Given the description of an element on the screen output the (x, y) to click on. 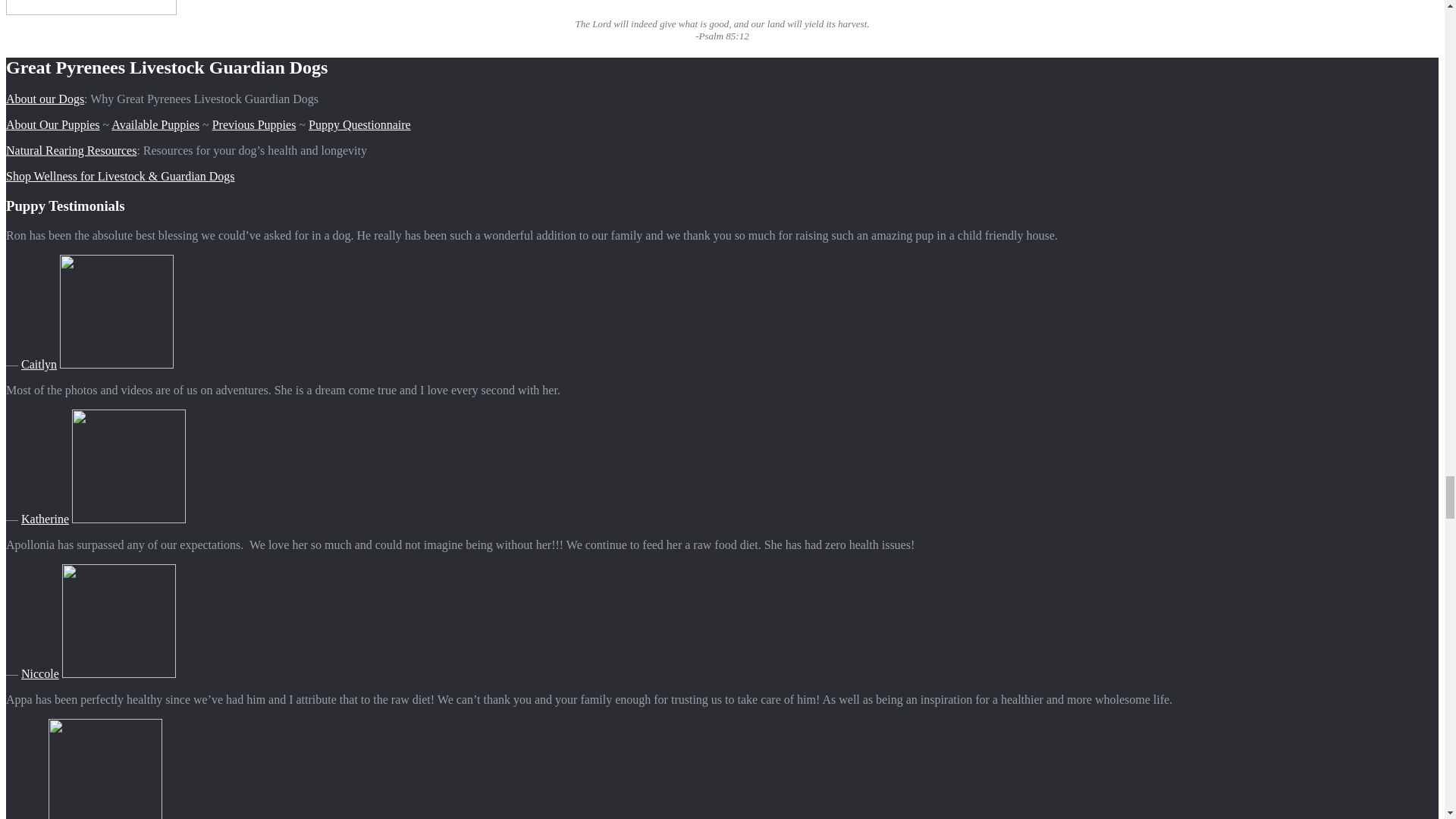
Katherine (44, 518)
Niccole (40, 673)
Caitlyn (38, 364)
